Given the description of an element on the screen output the (x, y) to click on. 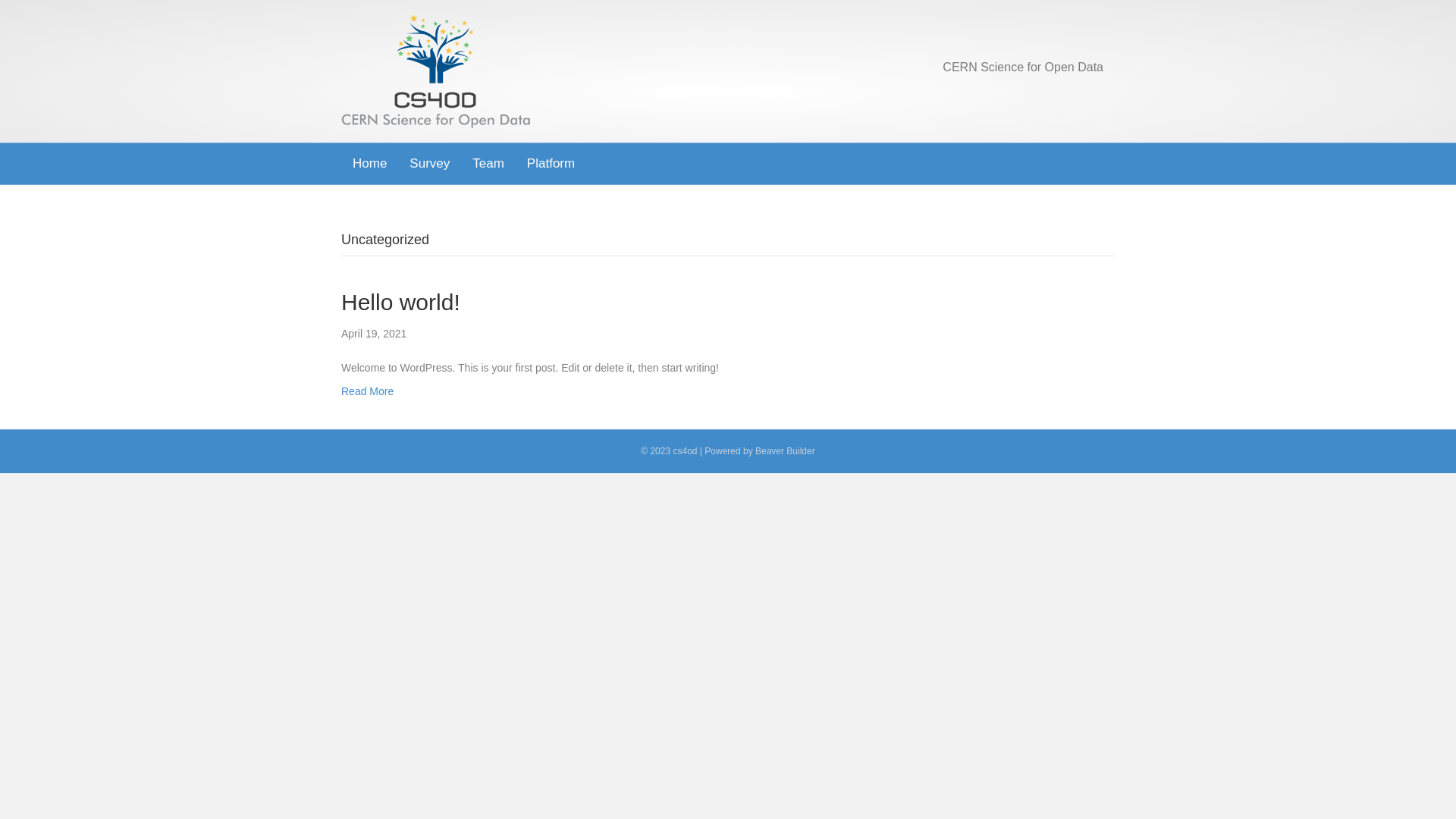
Hello world! Element type: text (400, 301)
Team Element type: text (488, 163)
Platform Element type: text (550, 163)
Survey Element type: text (429, 163)
Read More Element type: text (367, 391)
Home Element type: text (369, 163)
Beaver Builder Element type: text (785, 450)
